Given the description of an element on the screen output the (x, y) to click on. 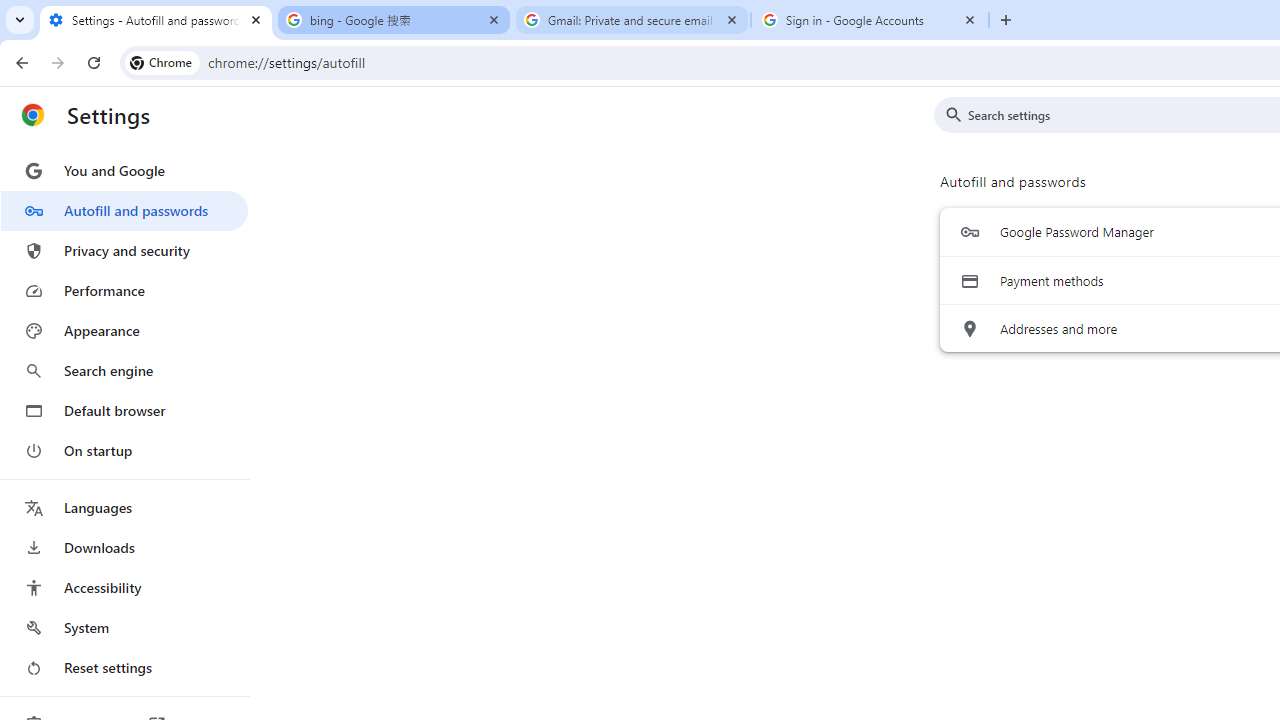
Maps (273, 528)
Sign in - Google Accounts (870, 20)
